Given the description of an element on the screen output the (x, y) to click on. 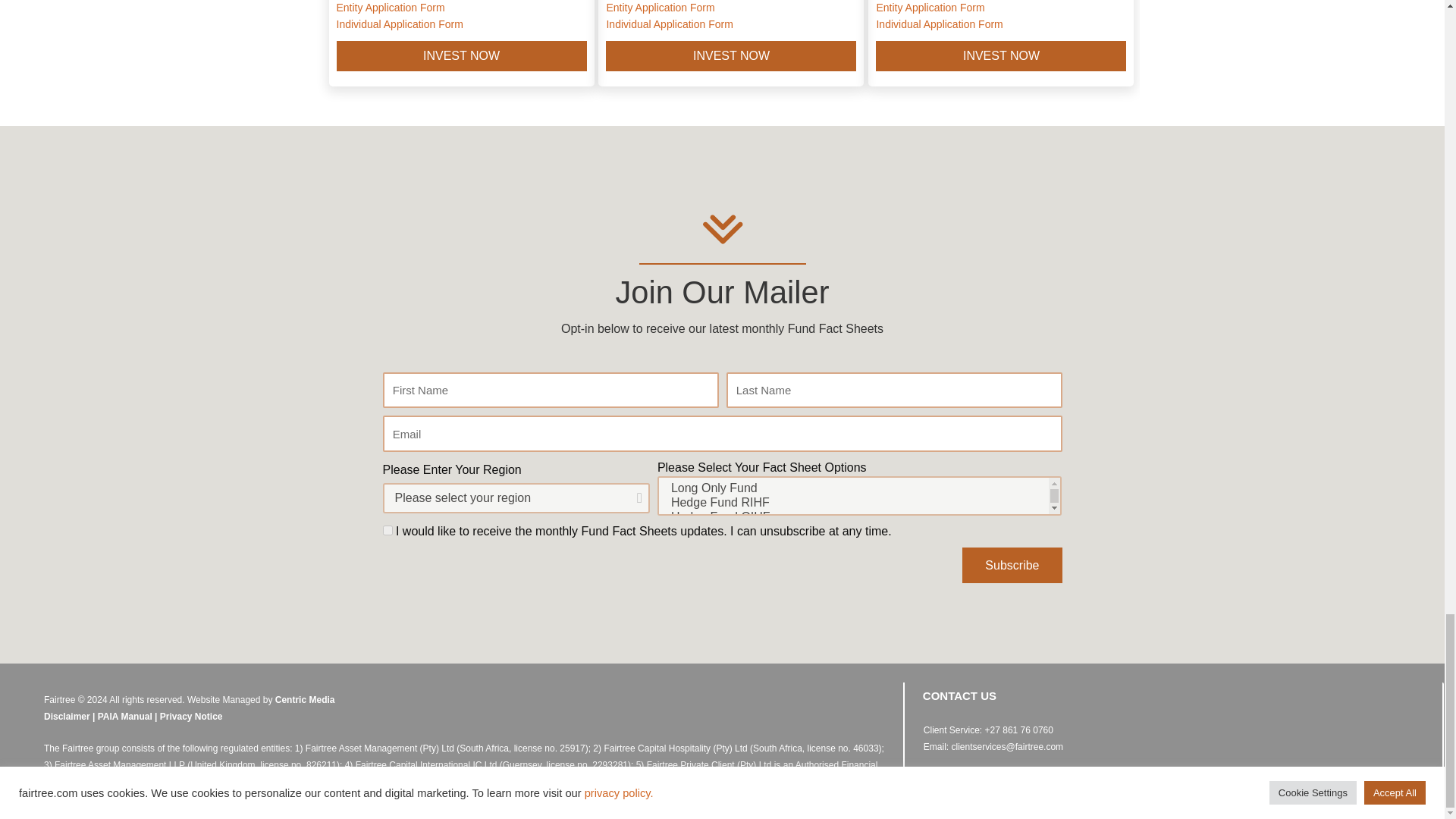
on (386, 530)
